Given the description of an element on the screen output the (x, y) to click on. 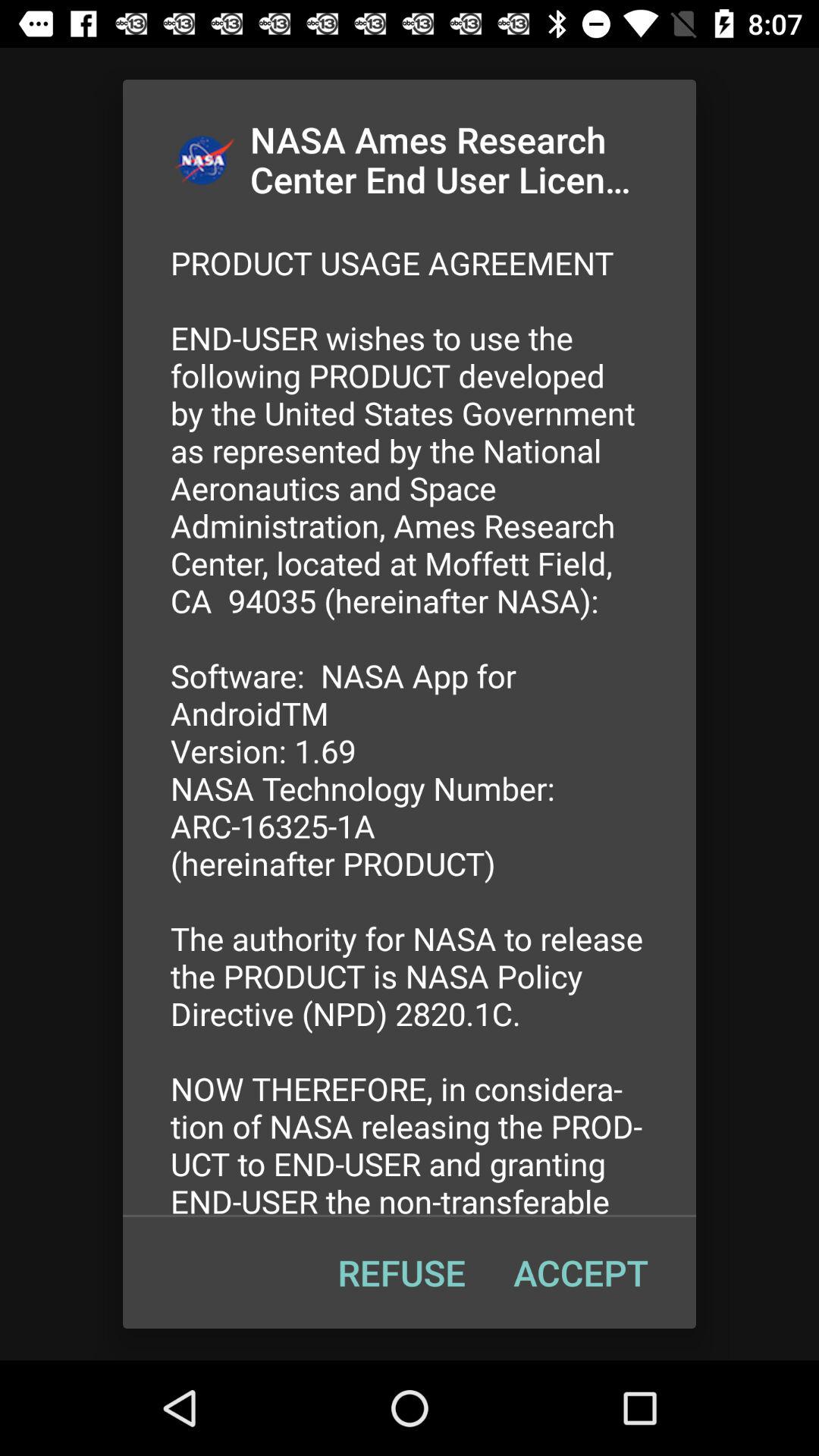
tap item to the right of the refuse (580, 1272)
